Given the description of an element on the screen output the (x, y) to click on. 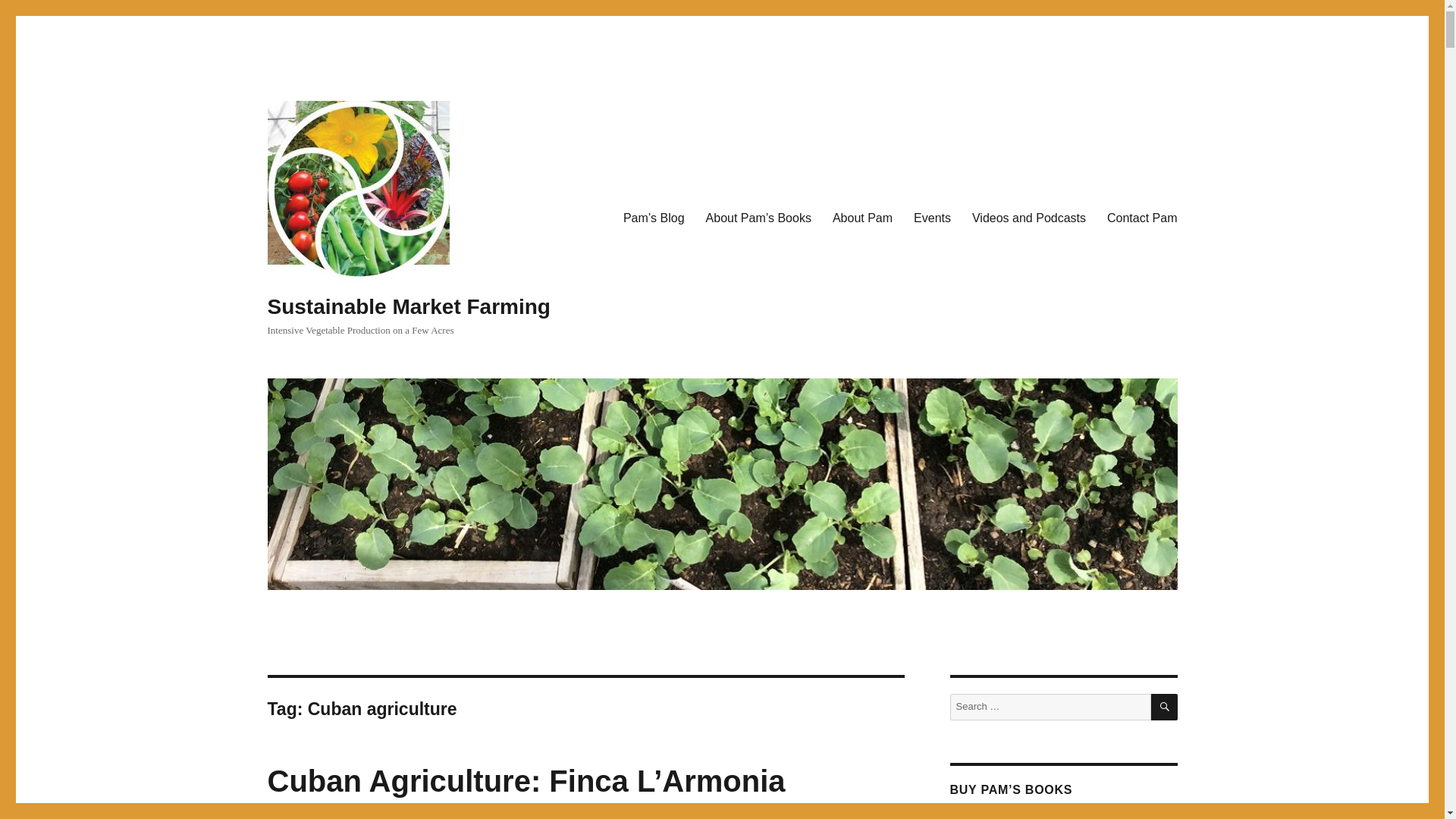
Videos and Podcasts (1028, 218)
Sustainable Market Farming (408, 306)
About Pam (862, 218)
Events (931, 218)
Contact Pam (1142, 218)
